Given the description of an element on the screen output the (x, y) to click on. 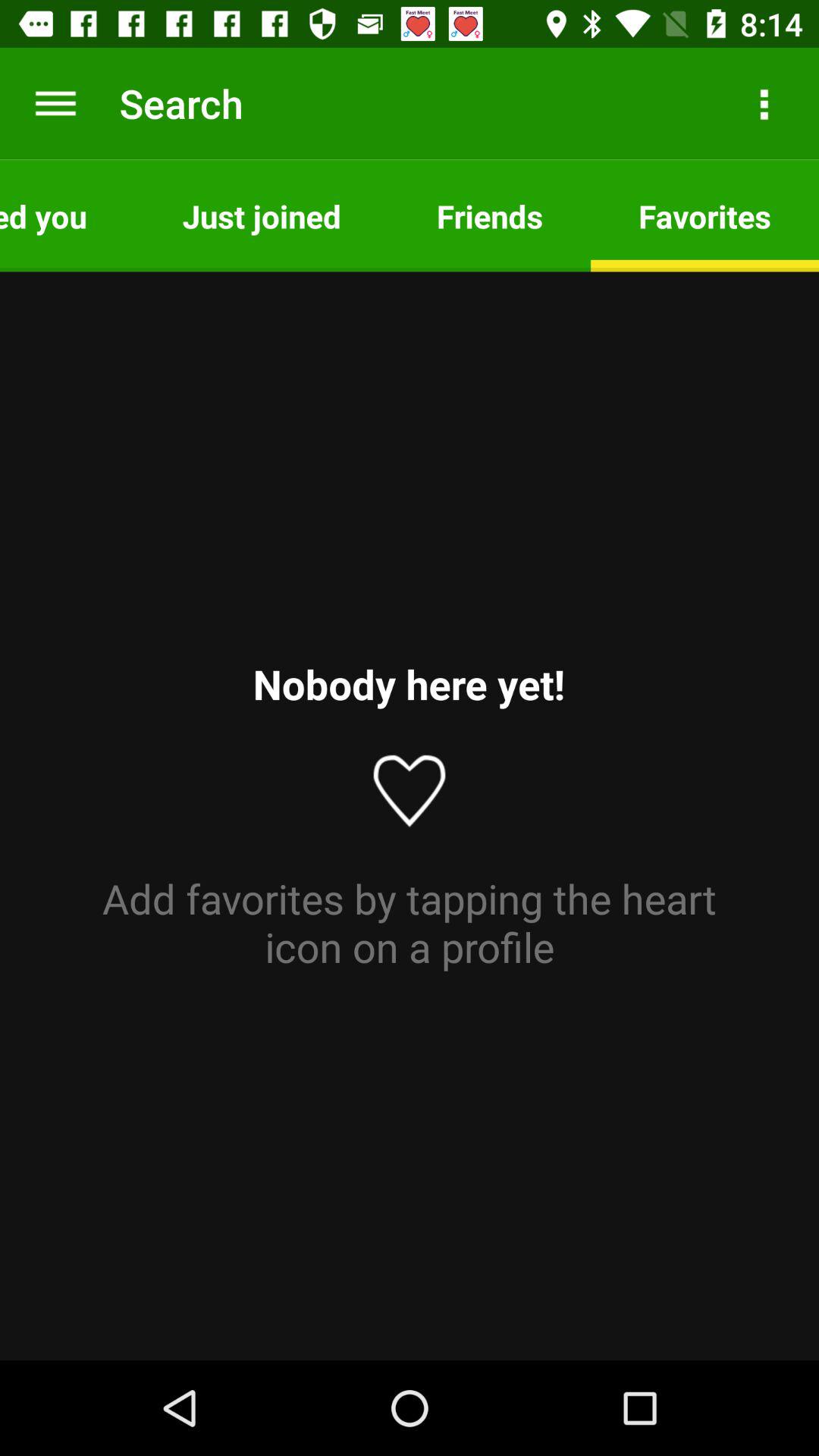
click the icon next to the search (55, 103)
